Given the description of an element on the screen output the (x, y) to click on. 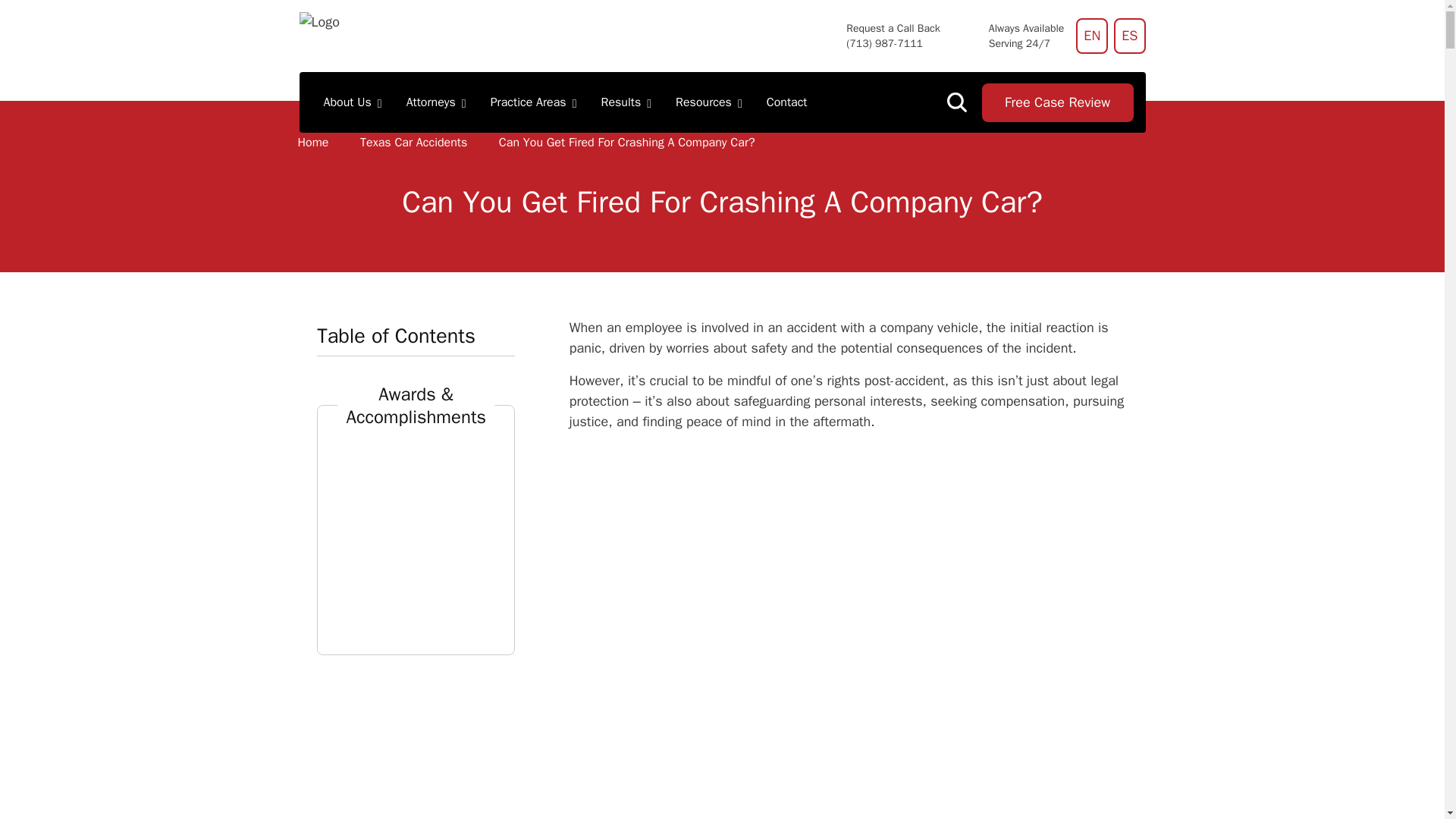
Attorneys (436, 102)
Practice Areas (534, 102)
About Us (352, 102)
EN (1091, 36)
